Given the description of an element on the screen output the (x, y) to click on. 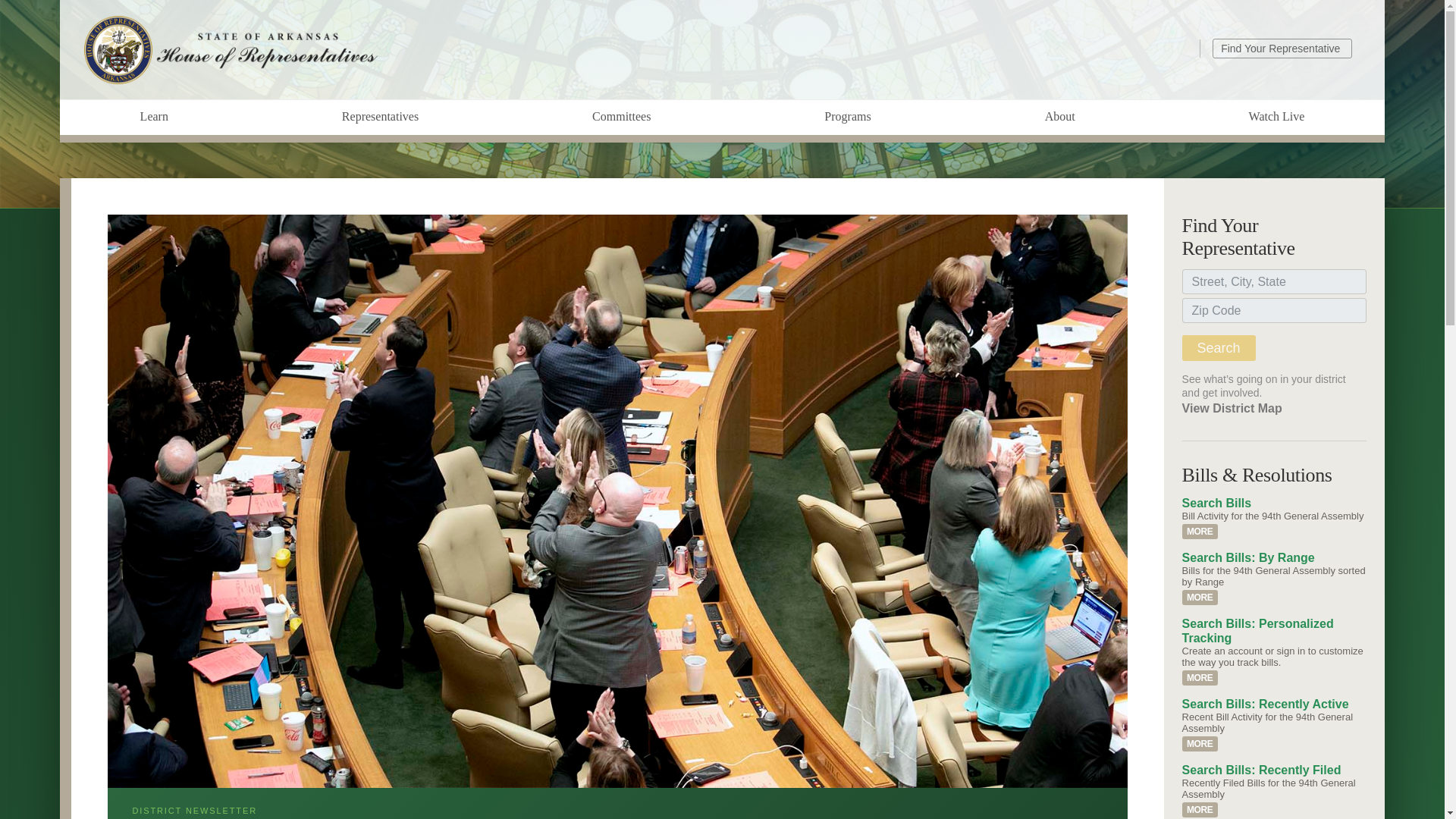
MORE (1199, 597)
Permalink (1199, 809)
MORE (1199, 743)
Programs (847, 117)
Permalink (1199, 677)
Representatives (379, 117)
Permalink (1199, 531)
MORE (1199, 809)
About (1059, 117)
View District Map (1232, 408)
Watch Live (1276, 117)
Committees (621, 117)
MORE (1199, 677)
Permalink (1199, 597)
Permalink (1199, 743)
